Given the description of an element on the screen output the (x, y) to click on. 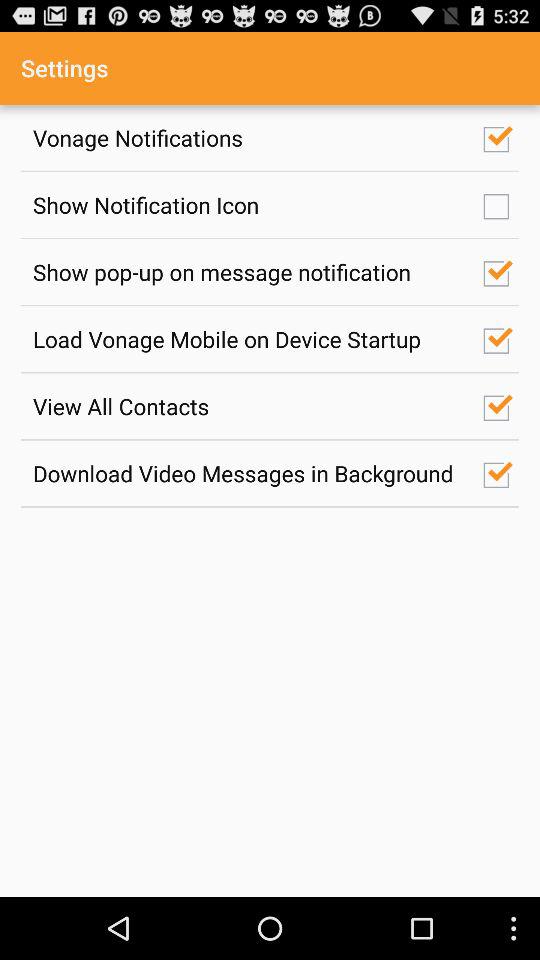
click vonage notifications (247, 137)
